Given the description of an element on the screen output the (x, y) to click on. 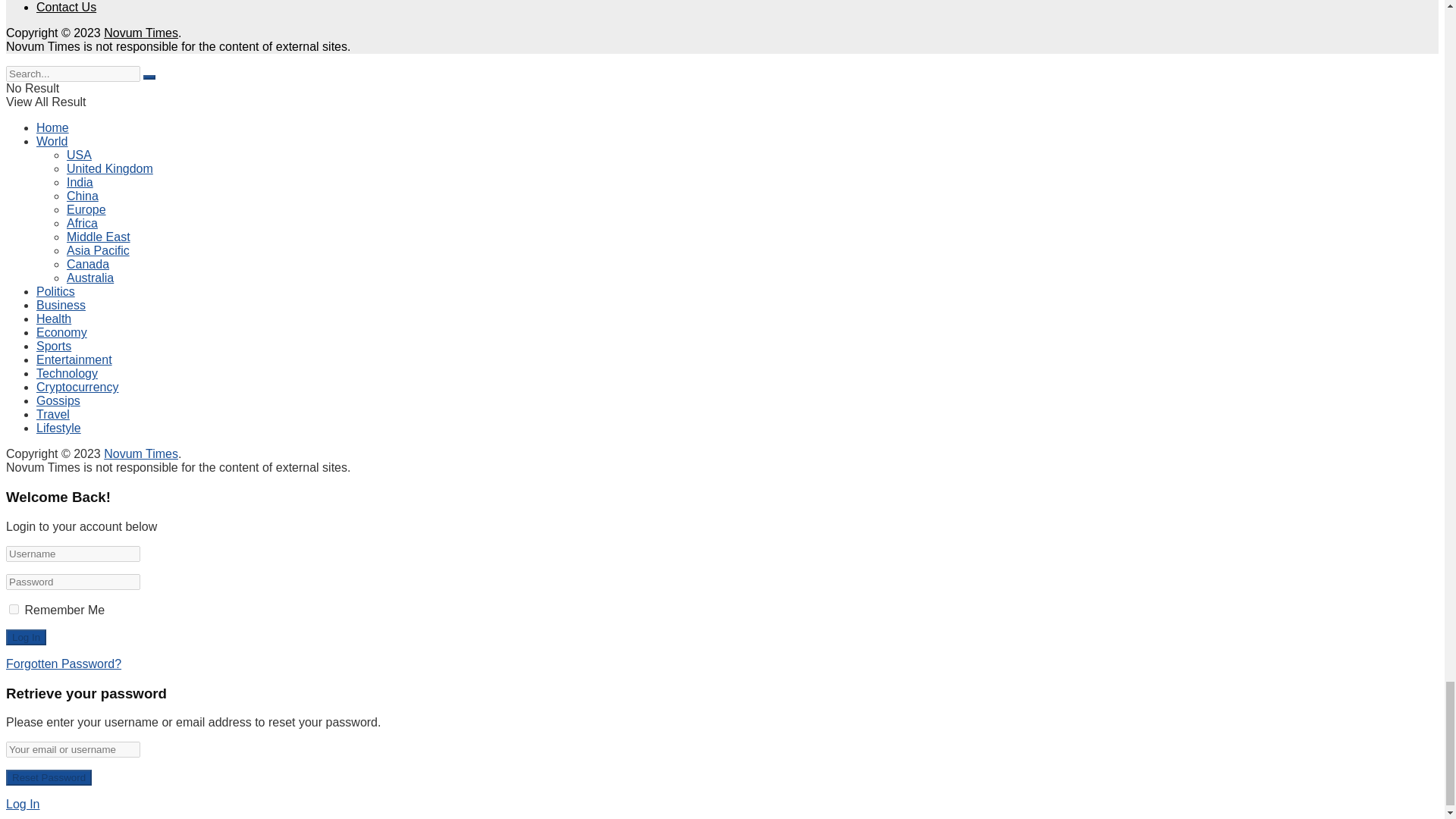
Reset Password (48, 777)
Log In (25, 637)
true (13, 609)
